Given the description of an element on the screen output the (x, y) to click on. 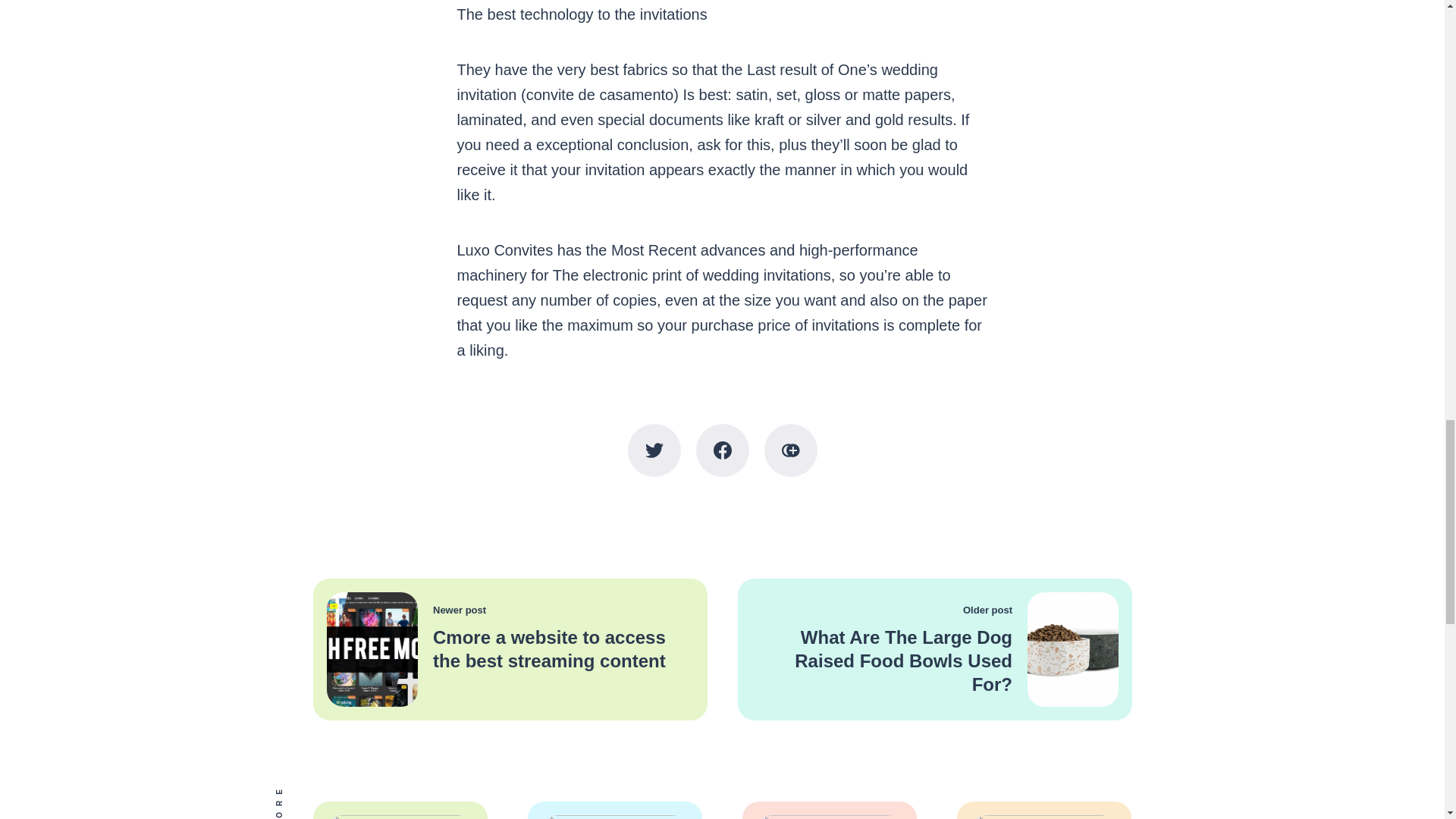
Cmore a website to access the best streaming content (548, 648)
What Are The Large Dog Raised Food Bowls Used For? (902, 660)
